Given the description of an element on the screen output the (x, y) to click on. 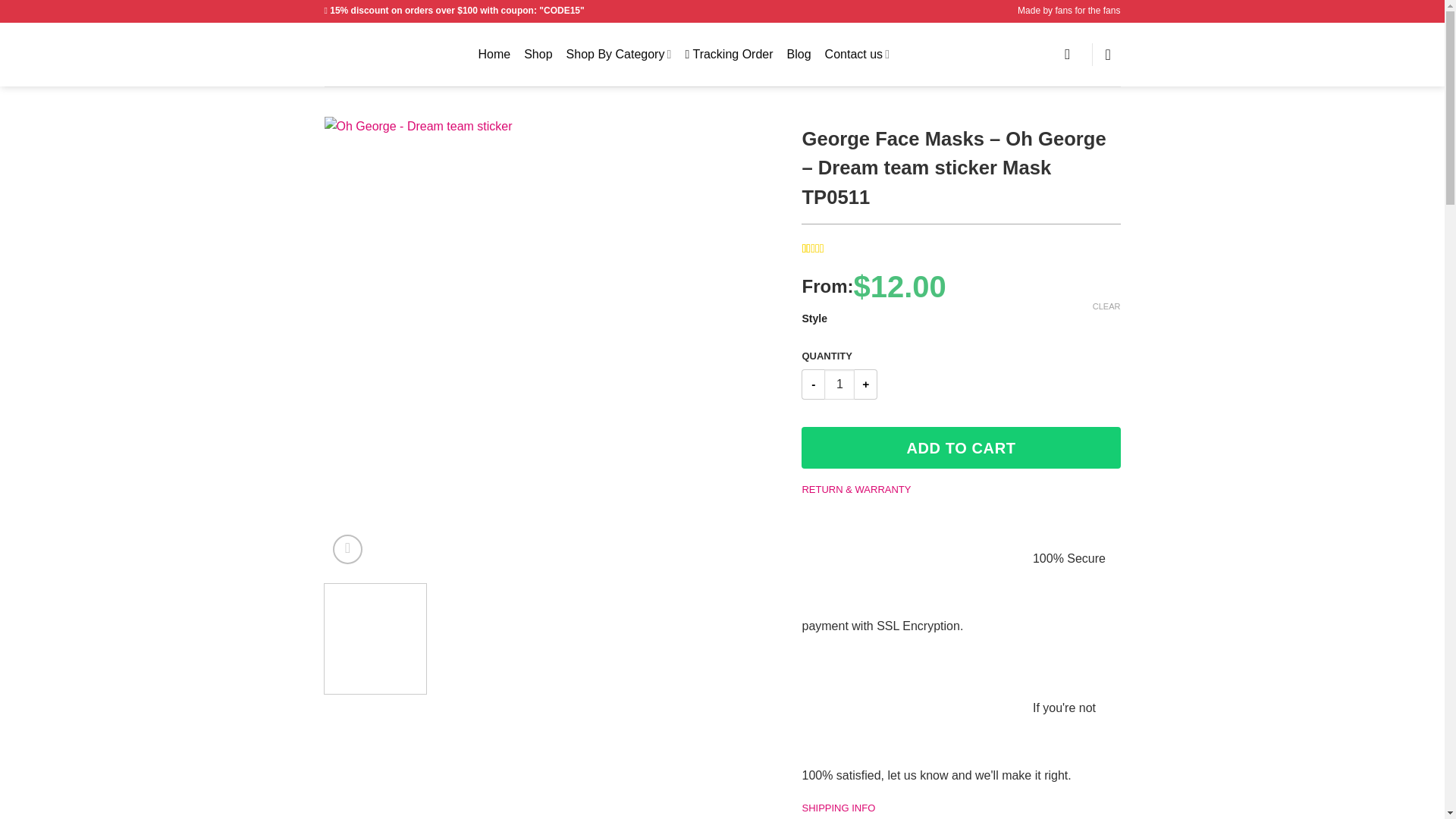
Home (494, 53)
Shop By Category (618, 53)
Qty (839, 384)
Zoom (347, 549)
1 (839, 384)
Shop (537, 53)
